Given the description of an element on the screen output the (x, y) to click on. 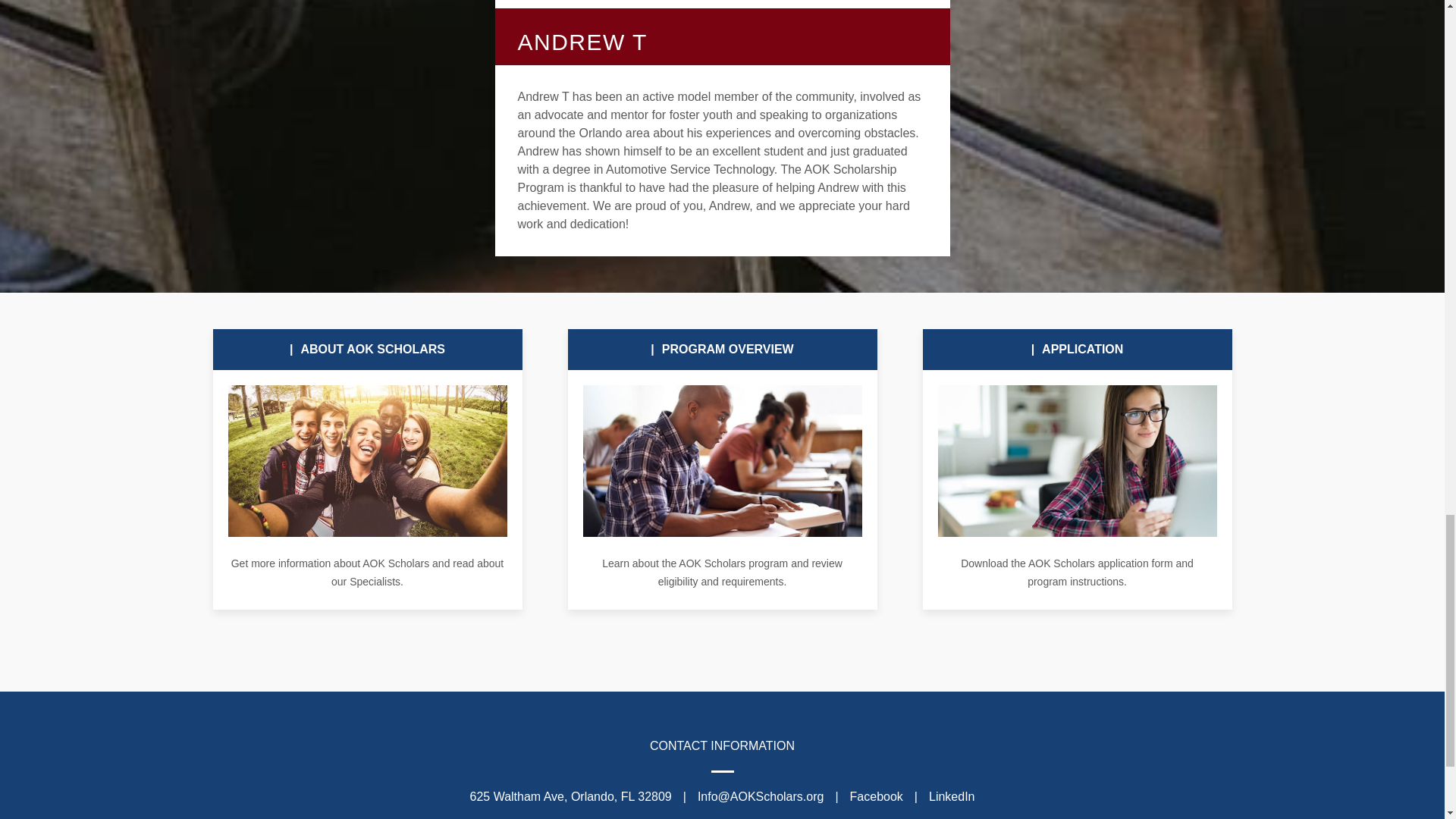
LinkedIn (951, 796)
Facebook (876, 796)
625 Waltham Ave, Orlando, FL 32809 (569, 796)
